Given the description of an element on the screen output the (x, y) to click on. 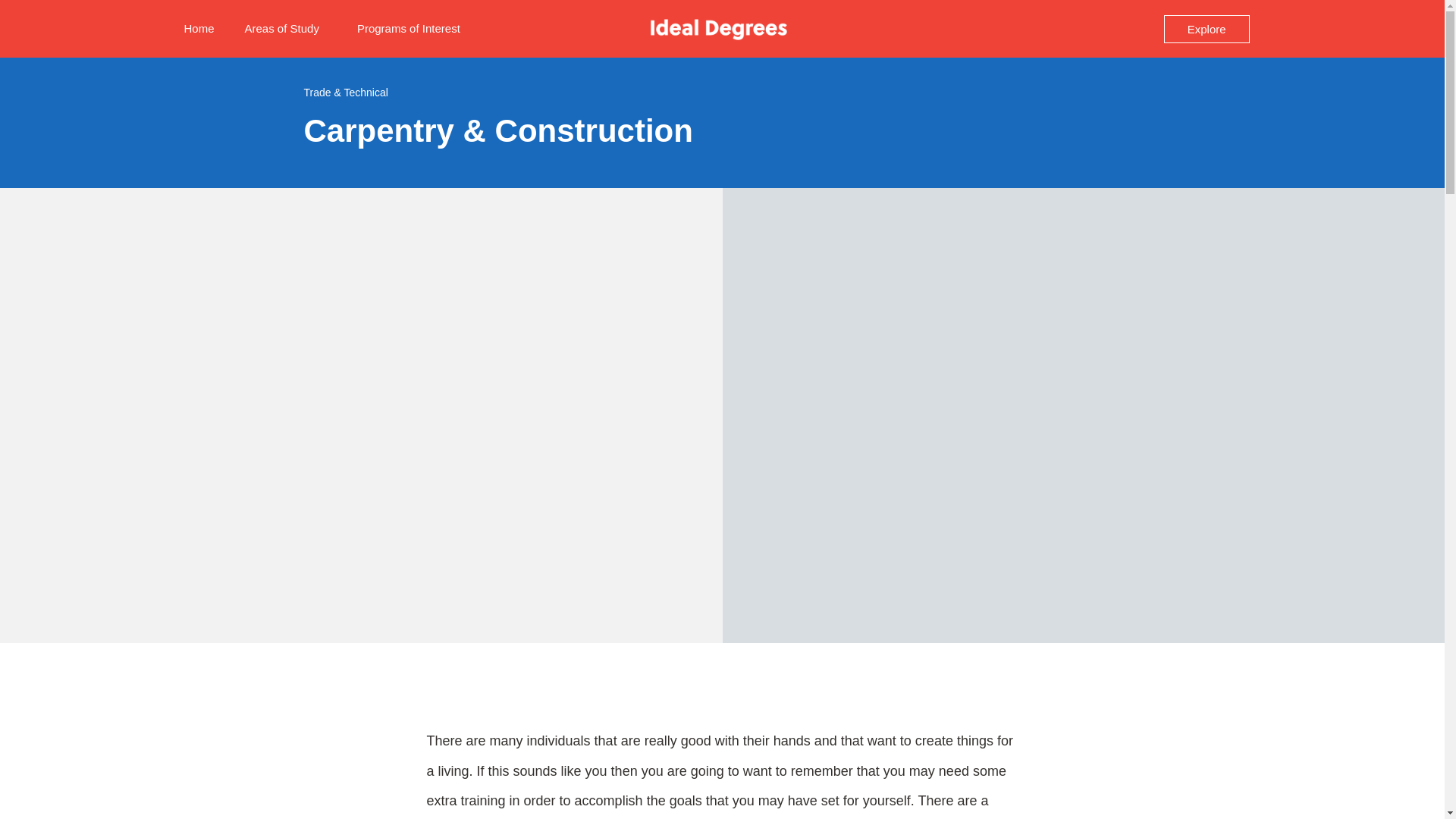
Areas of Study (286, 28)
Home (198, 28)
